Given the description of an element on the screen output the (x, y) to click on. 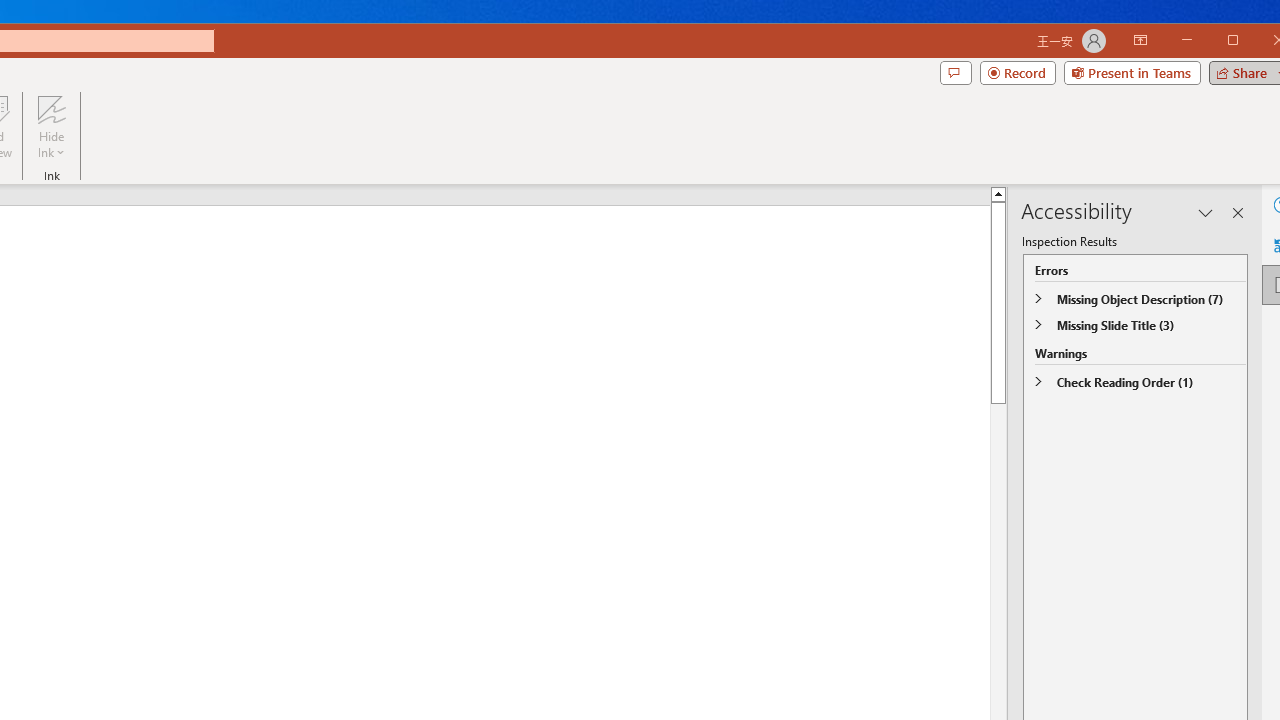
Hide Ink (51, 109)
Hide Ink (51, 127)
Maximize (1261, 42)
